Given the description of an element on the screen output the (x, y) to click on. 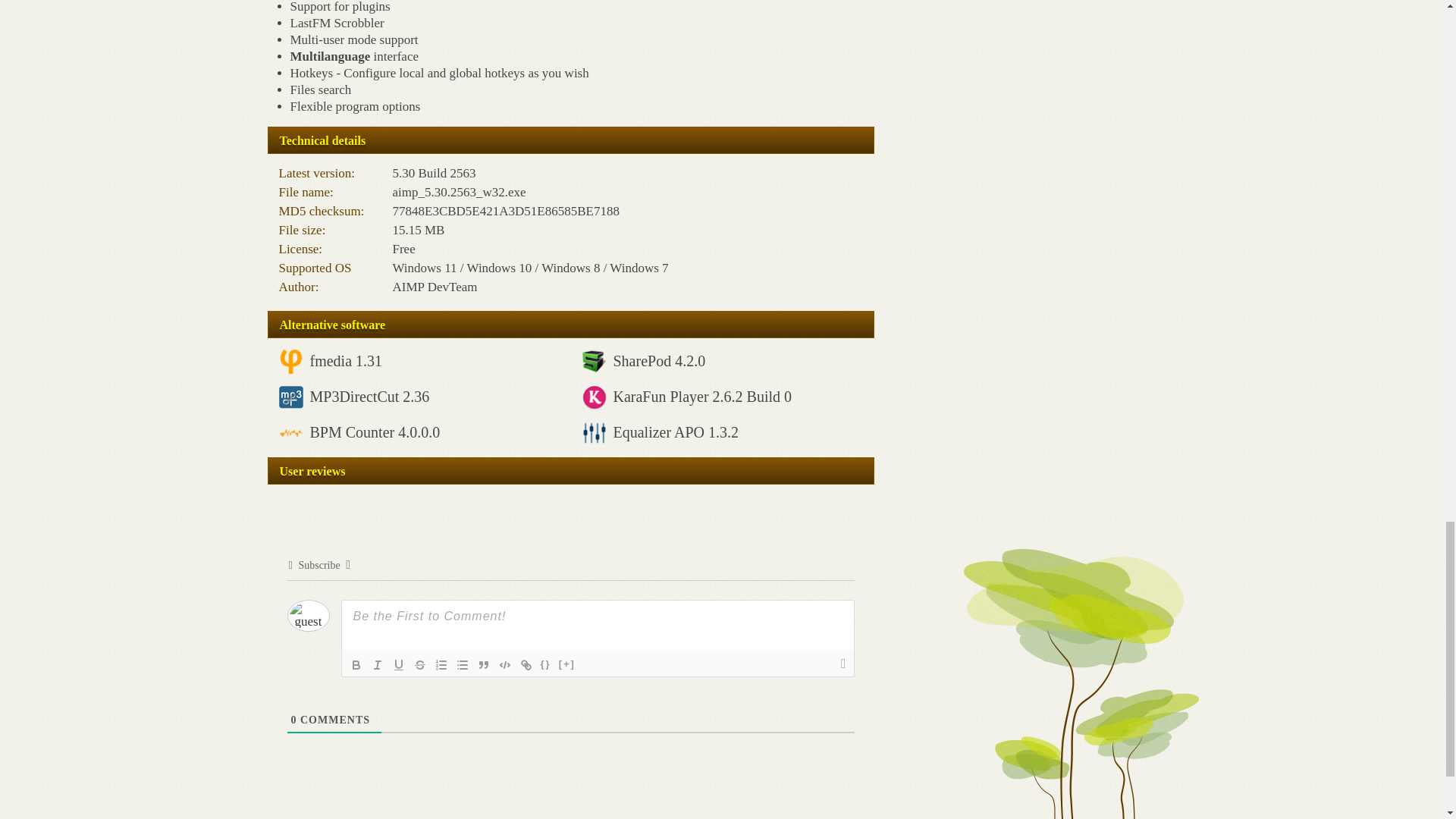
SharePod 4.2.0 (658, 360)
Equalizer APO 1.3.2 (675, 432)
Unordered List (462, 665)
Spoiler (566, 665)
fmedia 1.31 (344, 360)
Ordered List (440, 665)
bullet (462, 665)
Blockquote (484, 665)
Italic (377, 665)
KaraFun Player 2.6.2 Build 0 (702, 396)
